Given the description of an element on the screen output the (x, y) to click on. 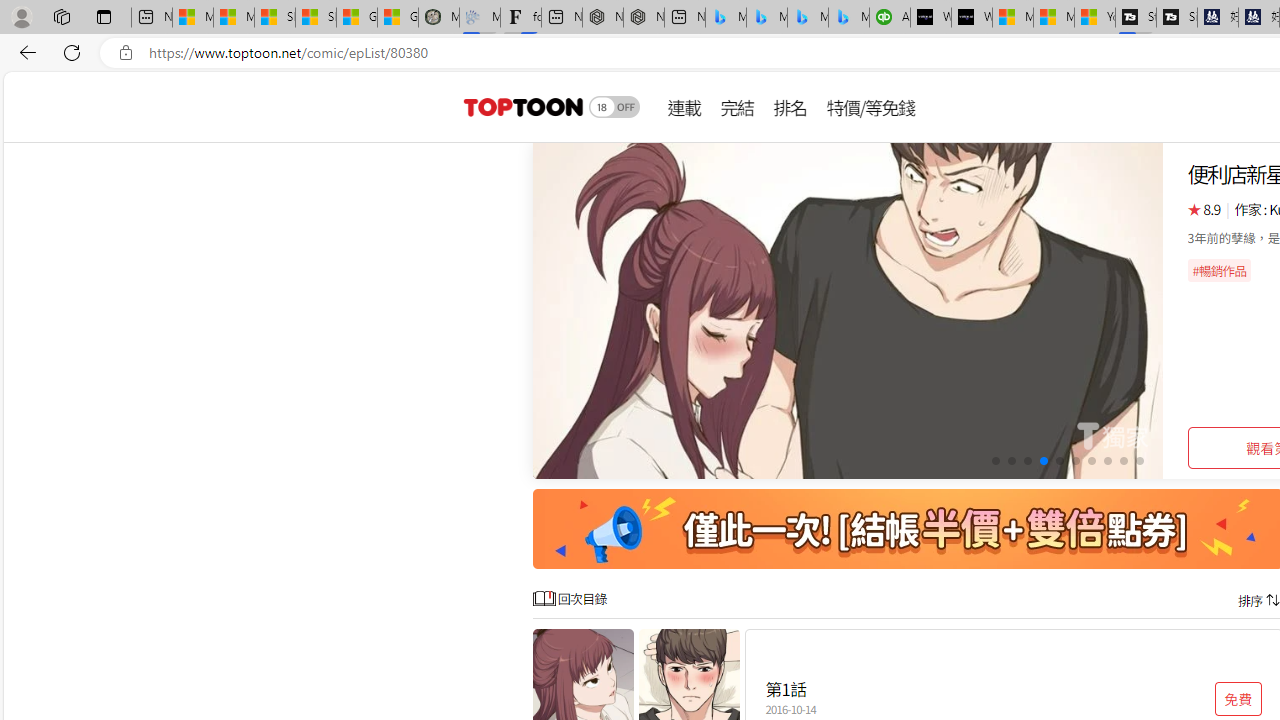
Go to slide 3 (1026, 461)
header (519, 106)
Class:  switch_18mode actionAdultBtn (614, 106)
Go to slide 7 (1090, 461)
Microsoft Bing Travel - Stays in Bangkok, Bangkok, Thailand (767, 17)
